Given the description of an element on the screen output the (x, y) to click on. 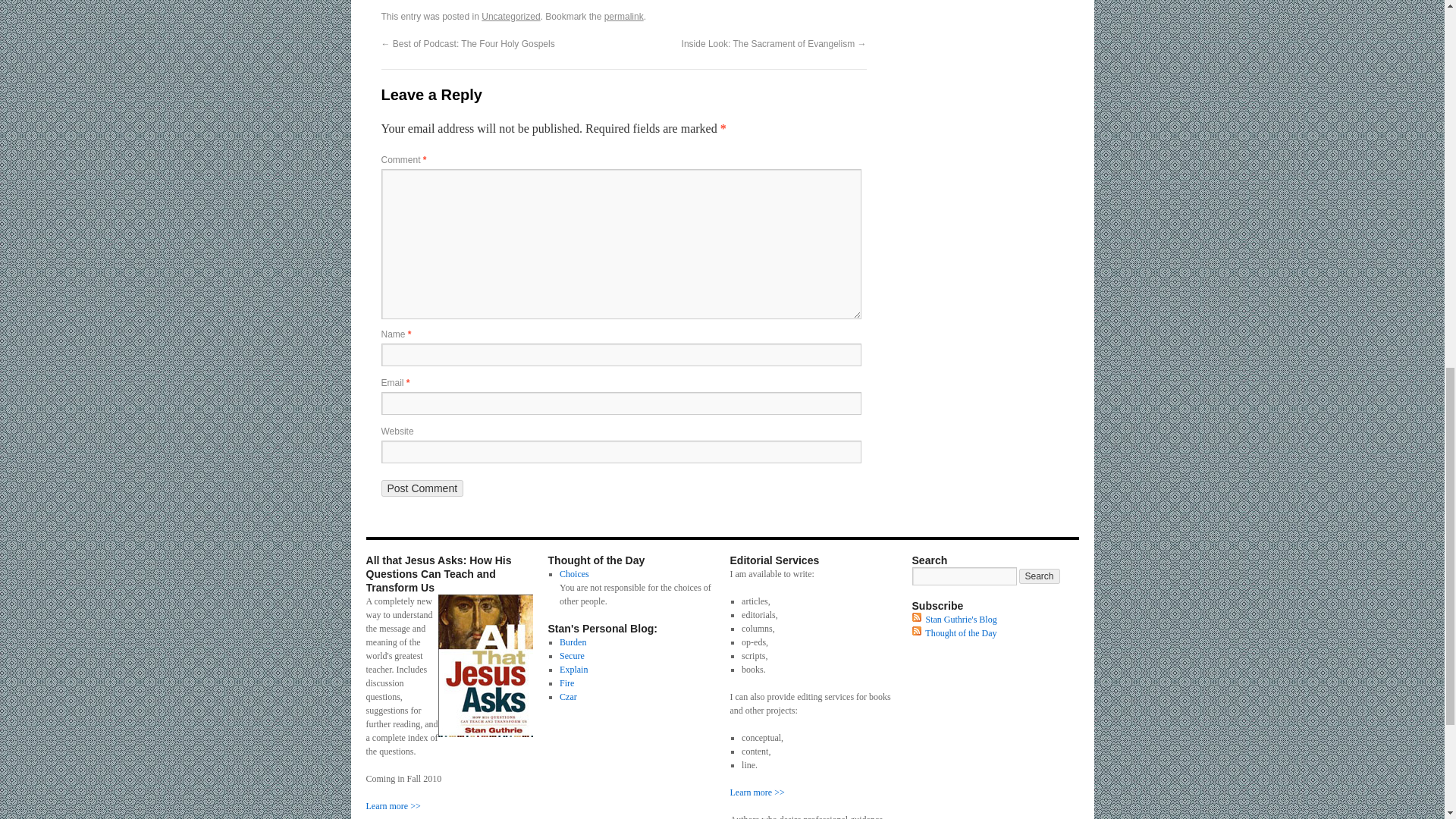
Post Comment (421, 487)
Permanent link to Choices (574, 573)
Post Comment (421, 487)
Search (1039, 575)
Uncategorized (510, 16)
permalink (623, 16)
